Given the description of an element on the screen output the (x, y) to click on. 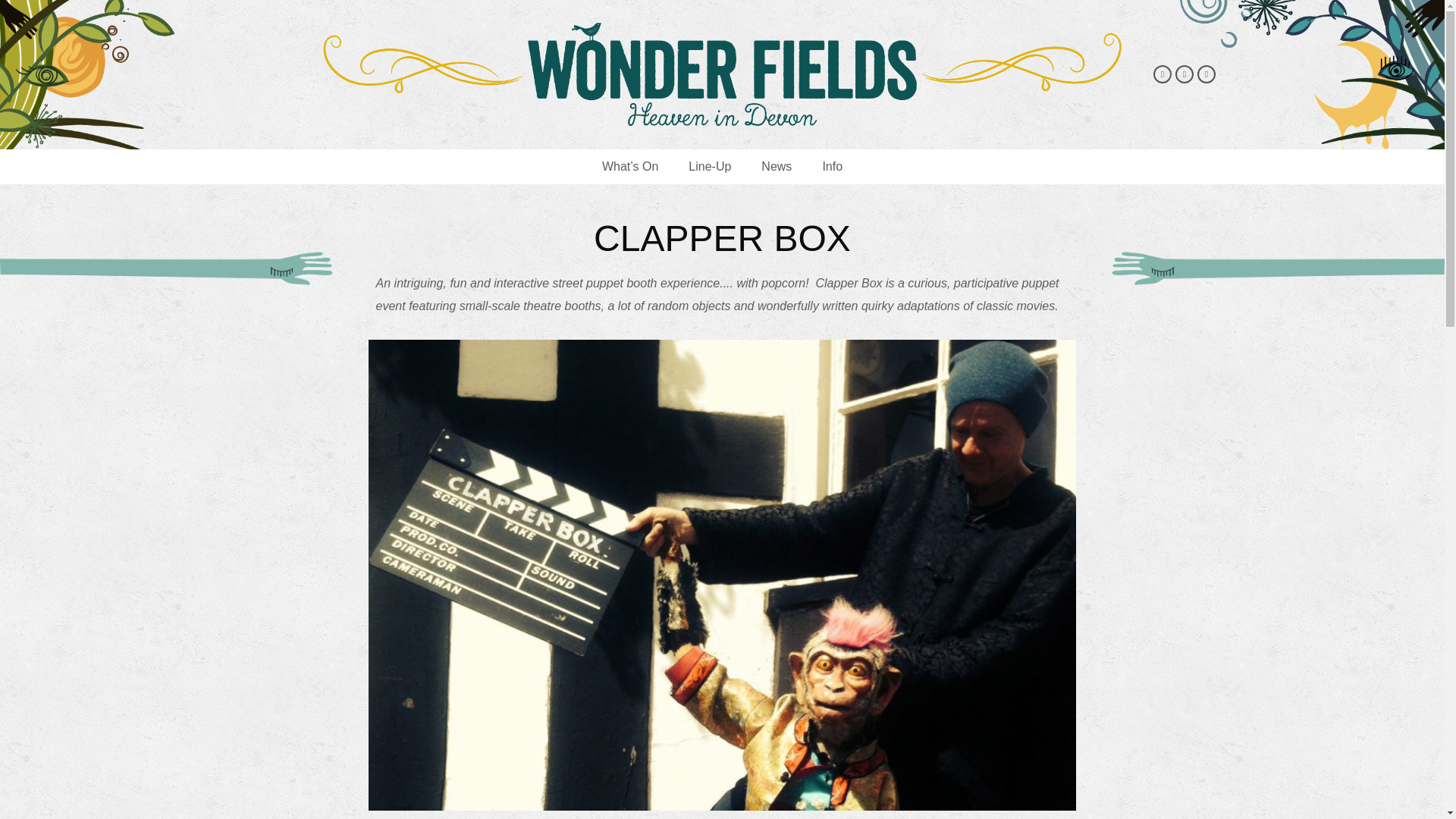
Line-Up (708, 166)
Facebook (1162, 74)
Instagram (1205, 74)
News (775, 166)
Twitter (1183, 74)
Info (831, 166)
